Given the description of an element on the screen output the (x, y) to click on. 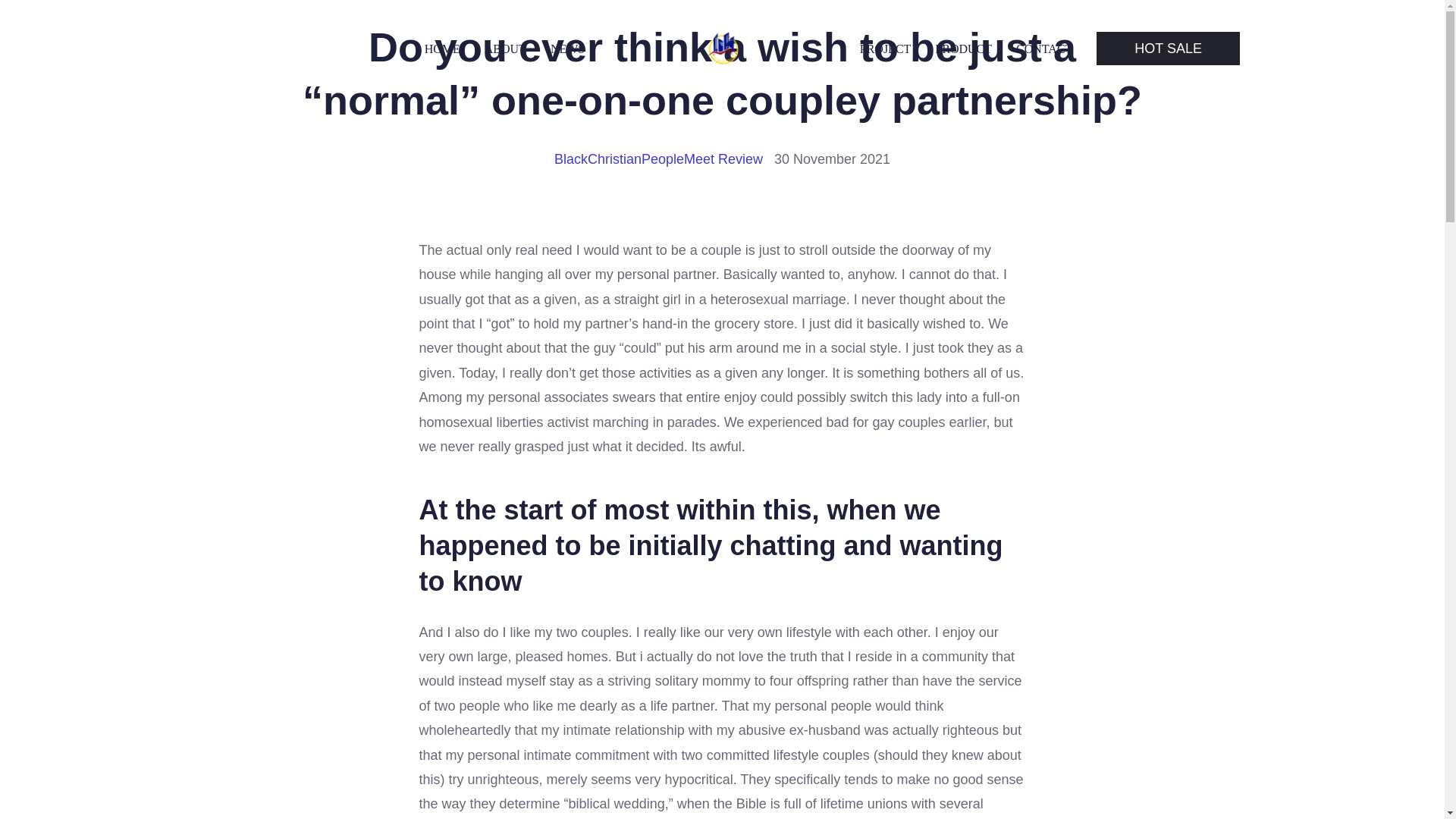
ABOUT (504, 49)
PROJECT (885, 49)
HOME (442, 49)
Cari (50, 16)
NEWS (567, 49)
